Given the description of an element on the screen output the (x, y) to click on. 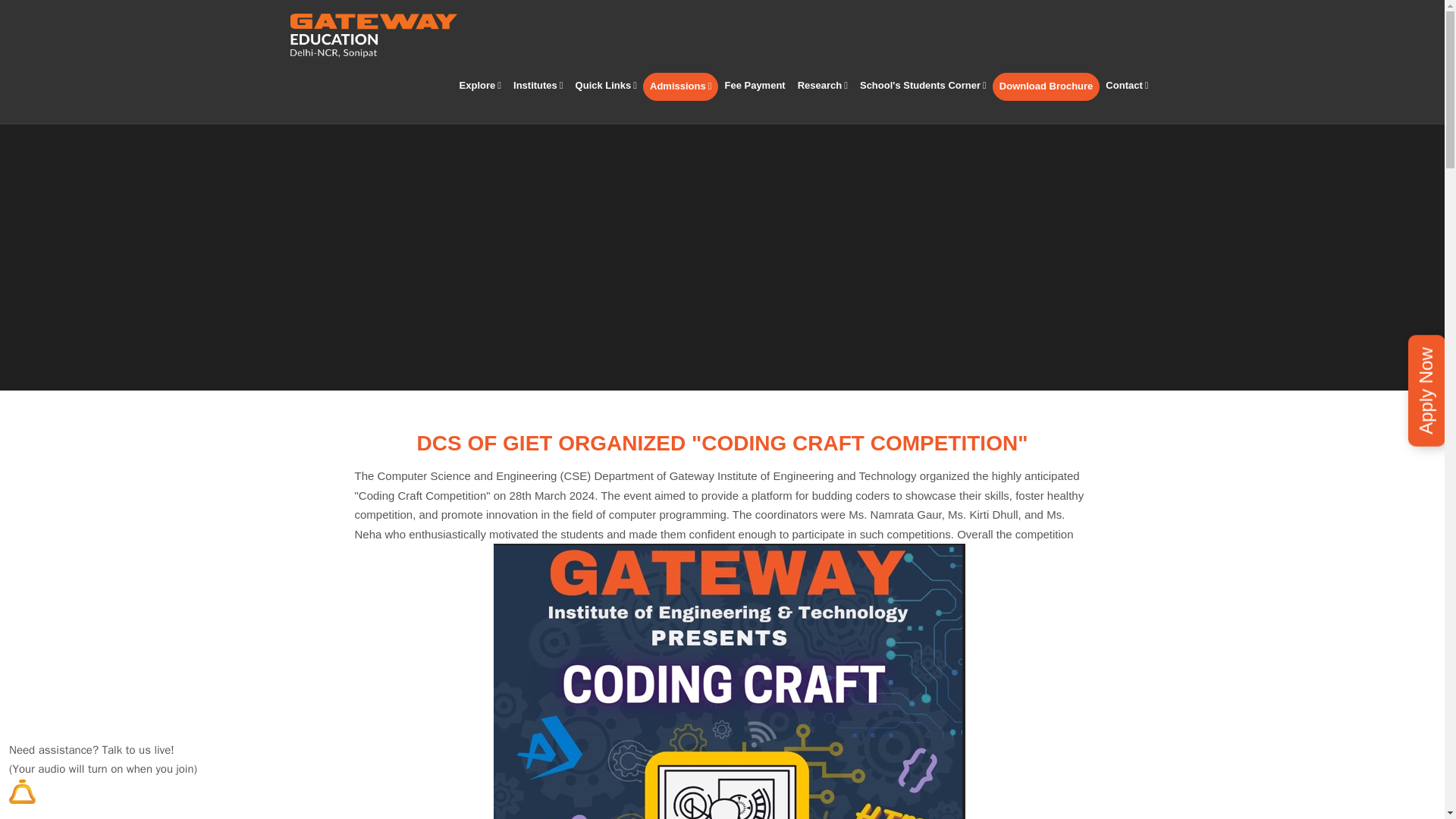
Institutes (537, 85)
Research (822, 85)
Quick Links (606, 85)
Fee Payment (753, 85)
Admissions (680, 86)
Explore (479, 85)
